Given the description of an element on the screen output the (x, y) to click on. 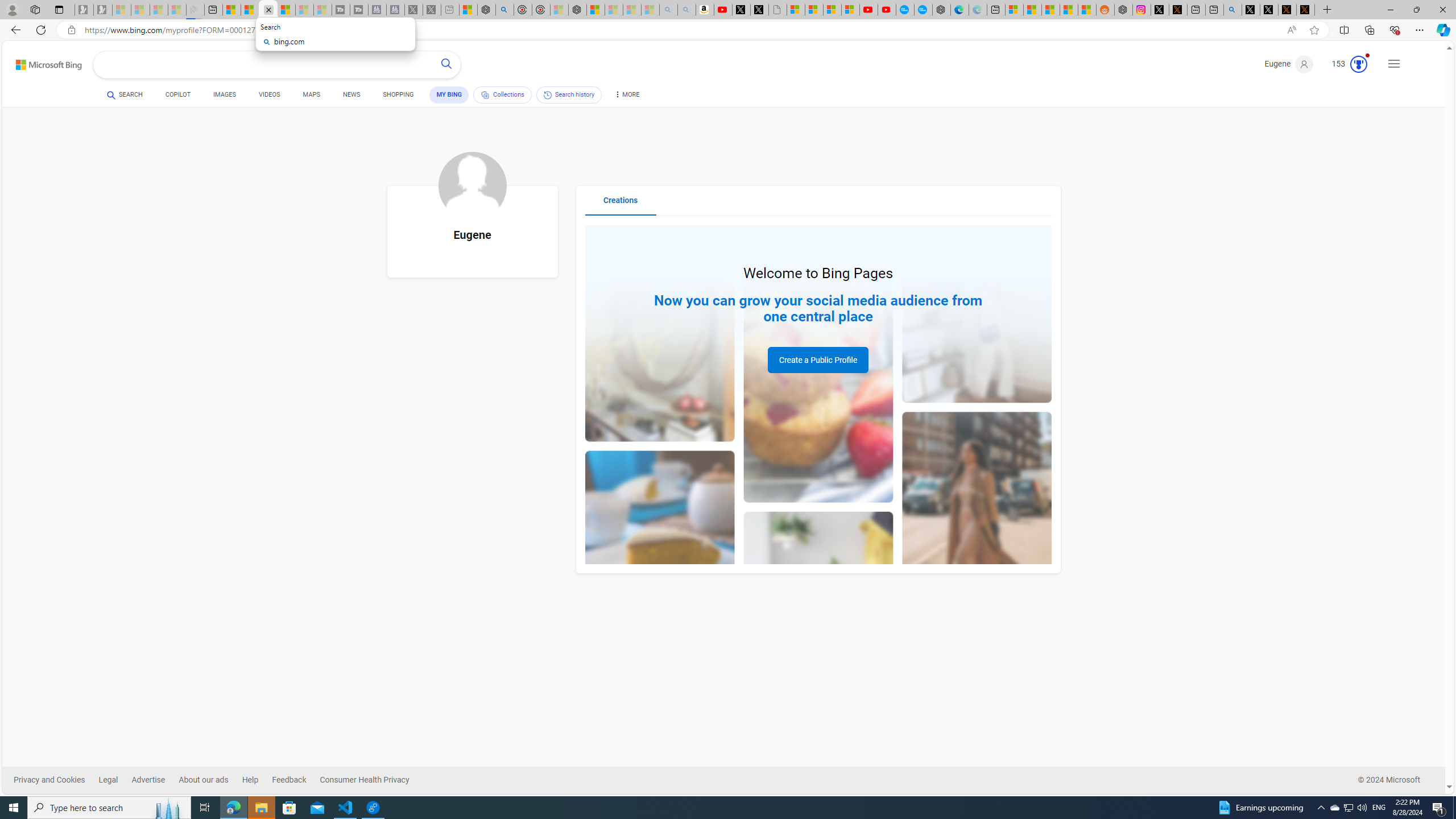
COPILOT (178, 94)
CollectionsSearch history (537, 96)
Advertise (148, 779)
Amazon Echo Dot PNG - Search Images - Sleeping (686, 9)
Search history (568, 94)
MY BING (448, 94)
About our ads (210, 780)
Legal (115, 780)
Day 1: Arriving in Yemen (surreal to be here) - YouTube (722, 9)
